Given the description of an element on the screen output the (x, y) to click on. 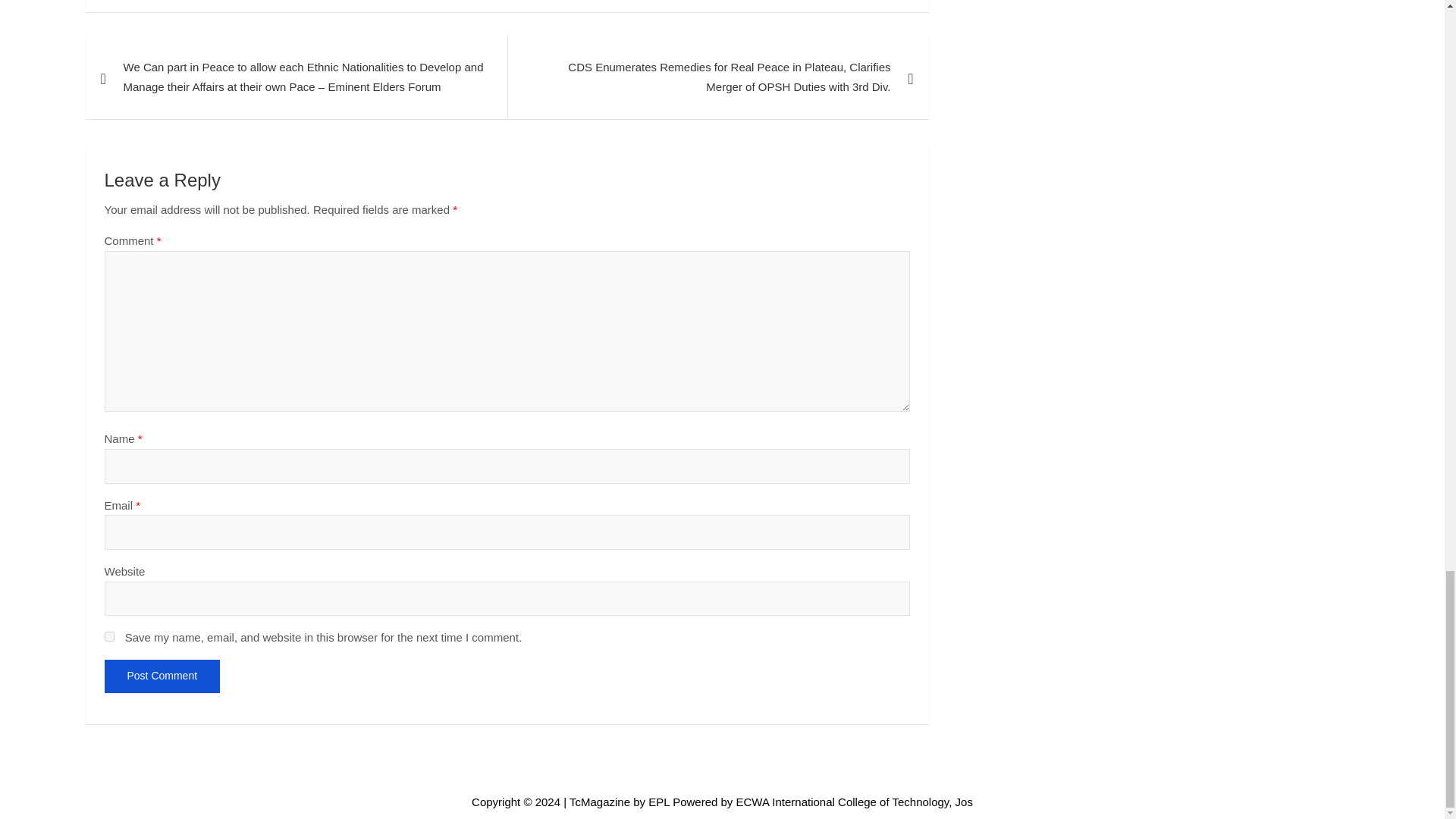
yes (109, 636)
Post Comment (162, 676)
Post Comment (162, 676)
